Given the description of an element on the screen output the (x, y) to click on. 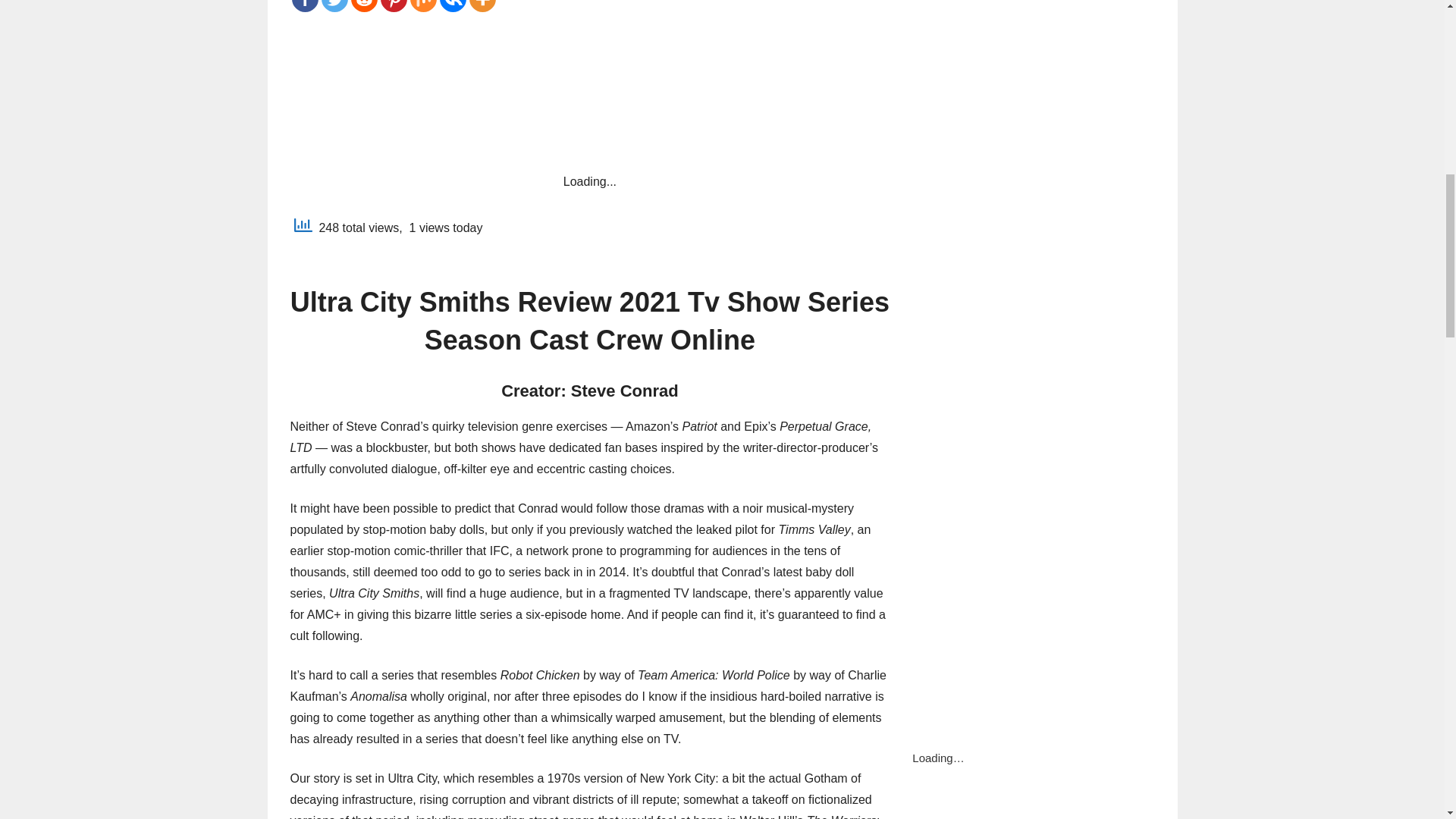
Advertisement (589, 88)
Mix (422, 6)
Pinterest (393, 6)
Vkontakte (452, 6)
Reddit (363, 6)
More (481, 6)
Twitter (334, 6)
Facebook (304, 6)
